Given the description of an element on the screen output the (x, y) to click on. 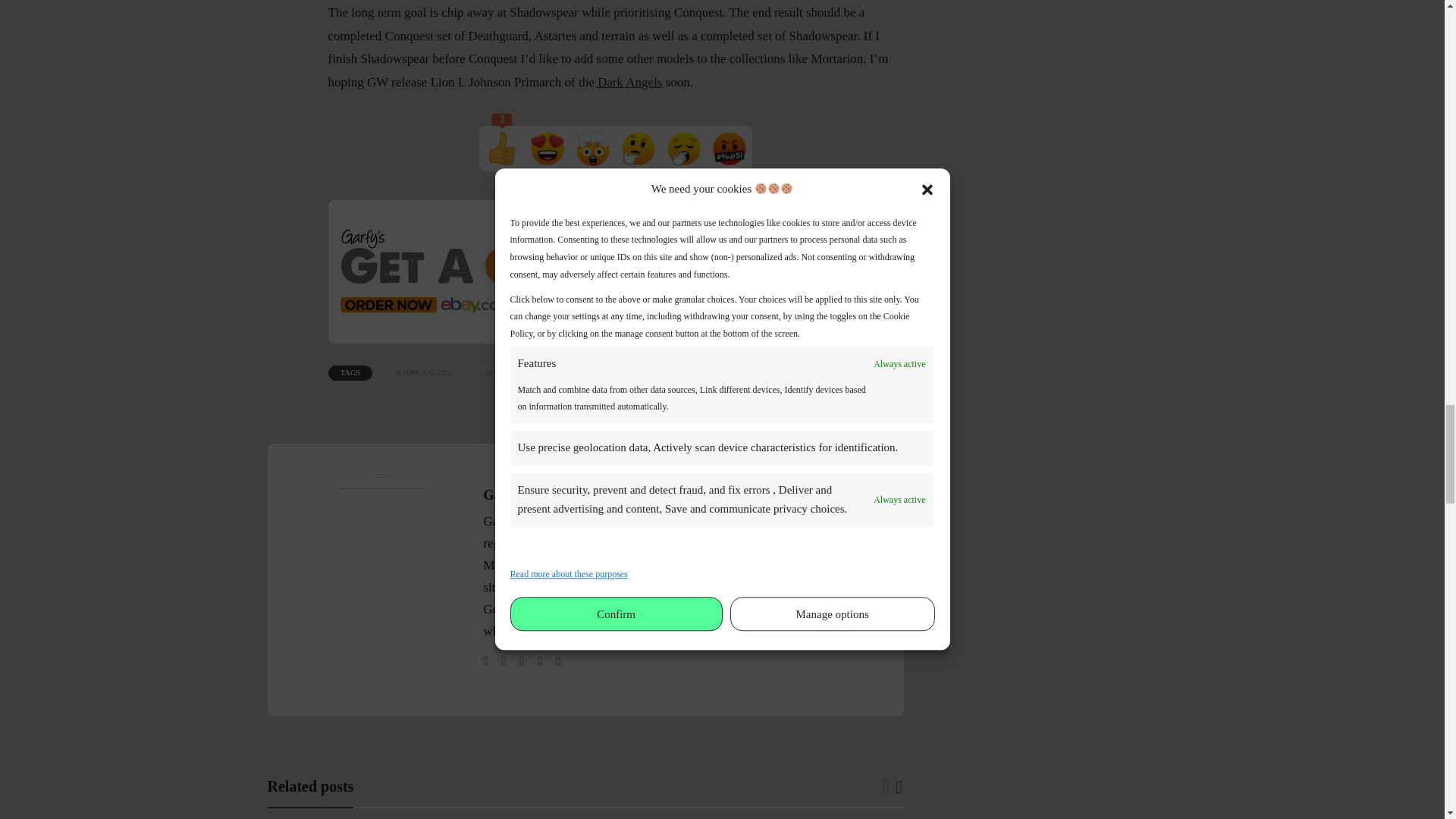
Dark Angels (629, 82)
